Given the description of an element on the screen output the (x, y) to click on. 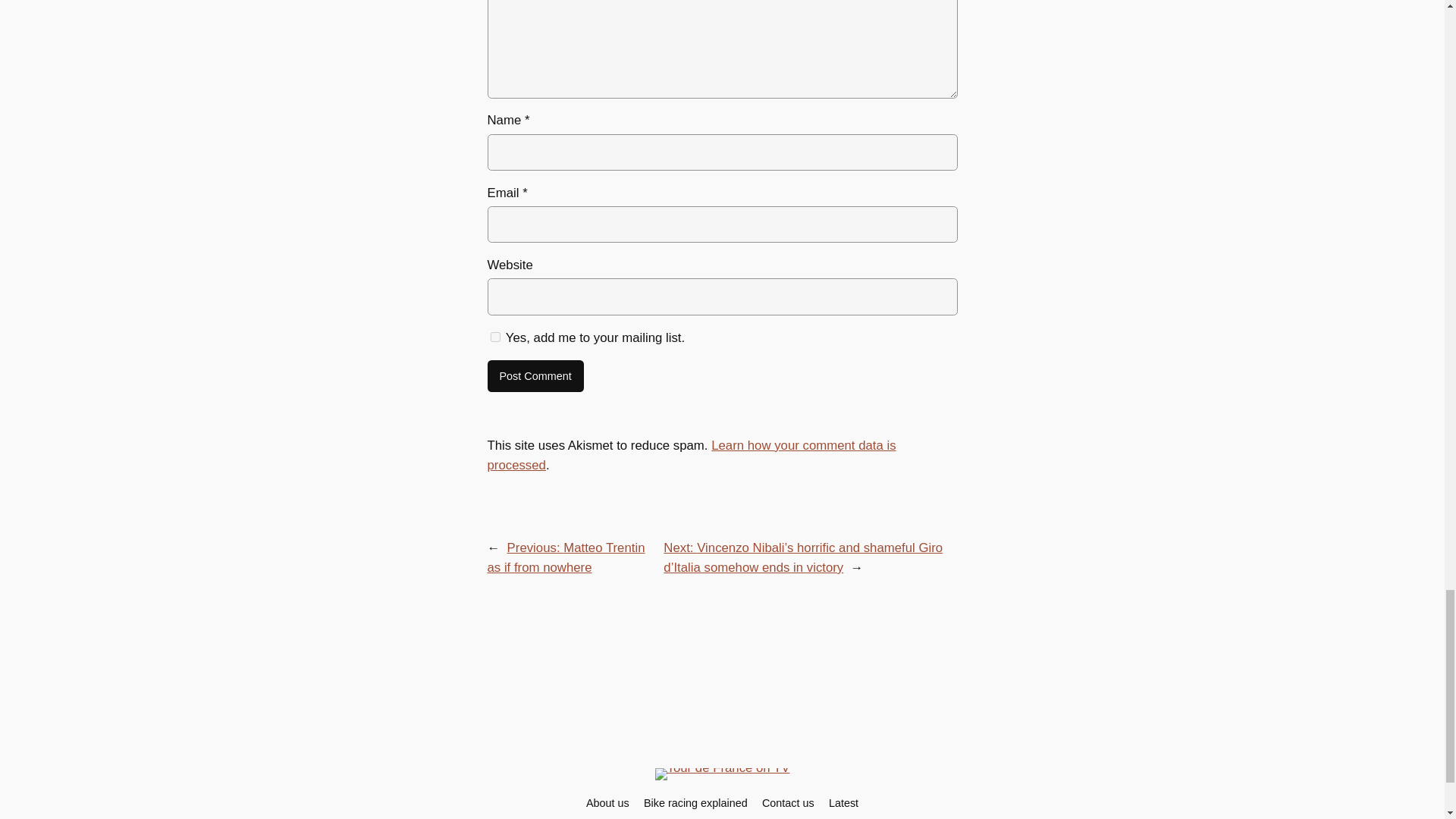
Bike racing explained (695, 802)
1 (494, 337)
Post Comment (534, 376)
Post Comment (534, 376)
Learn how your comment data is processed (690, 455)
Latest (843, 802)
Previous: Matteo Trentin as if from nowhere (565, 557)
About us (607, 802)
Contact us (787, 802)
